Given the description of an element on the screen output the (x, y) to click on. 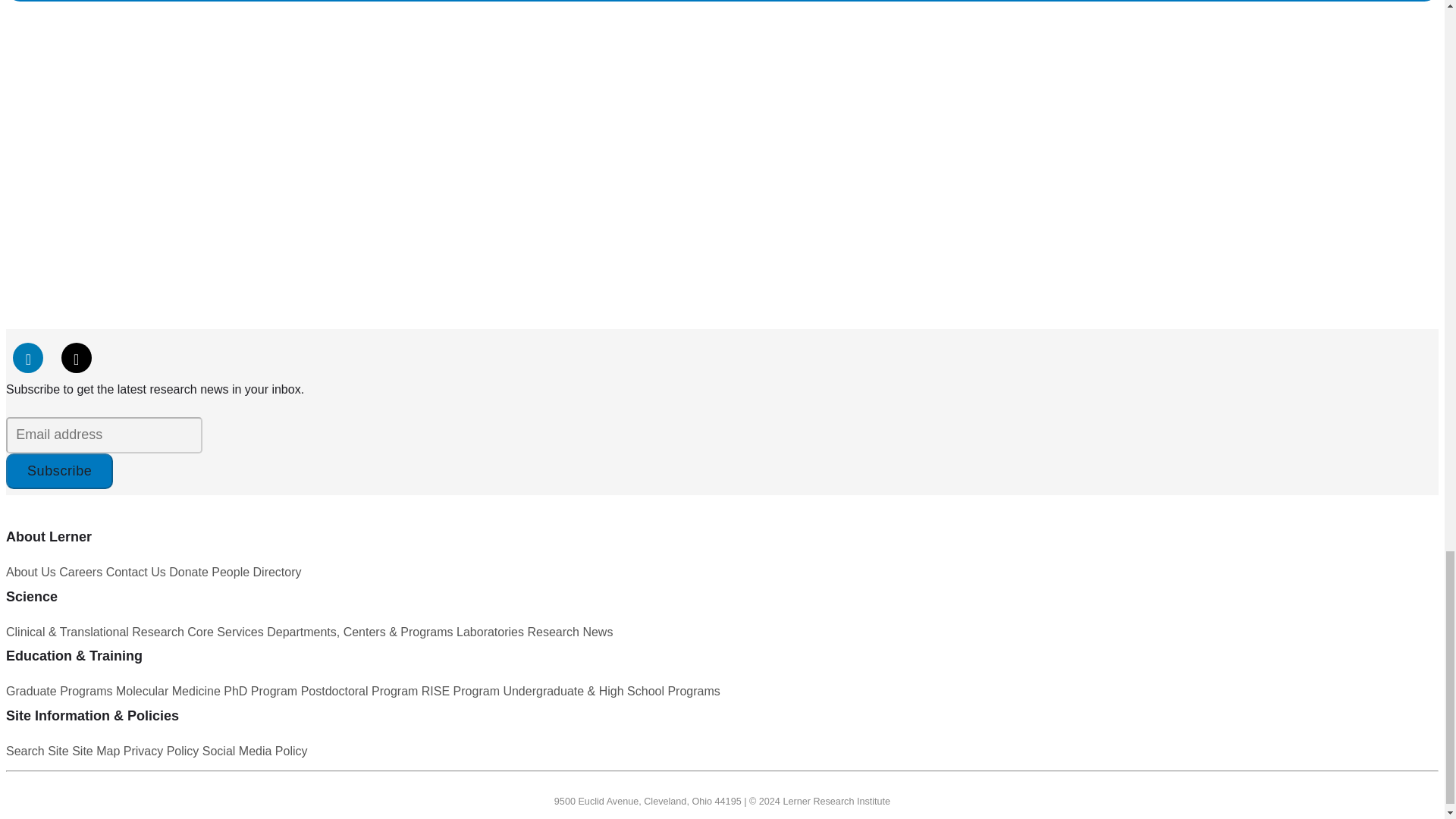
LinkedIn (28, 358)
Subscribe (59, 471)
Twitter (76, 358)
